Given the description of an element on the screen output the (x, y) to click on. 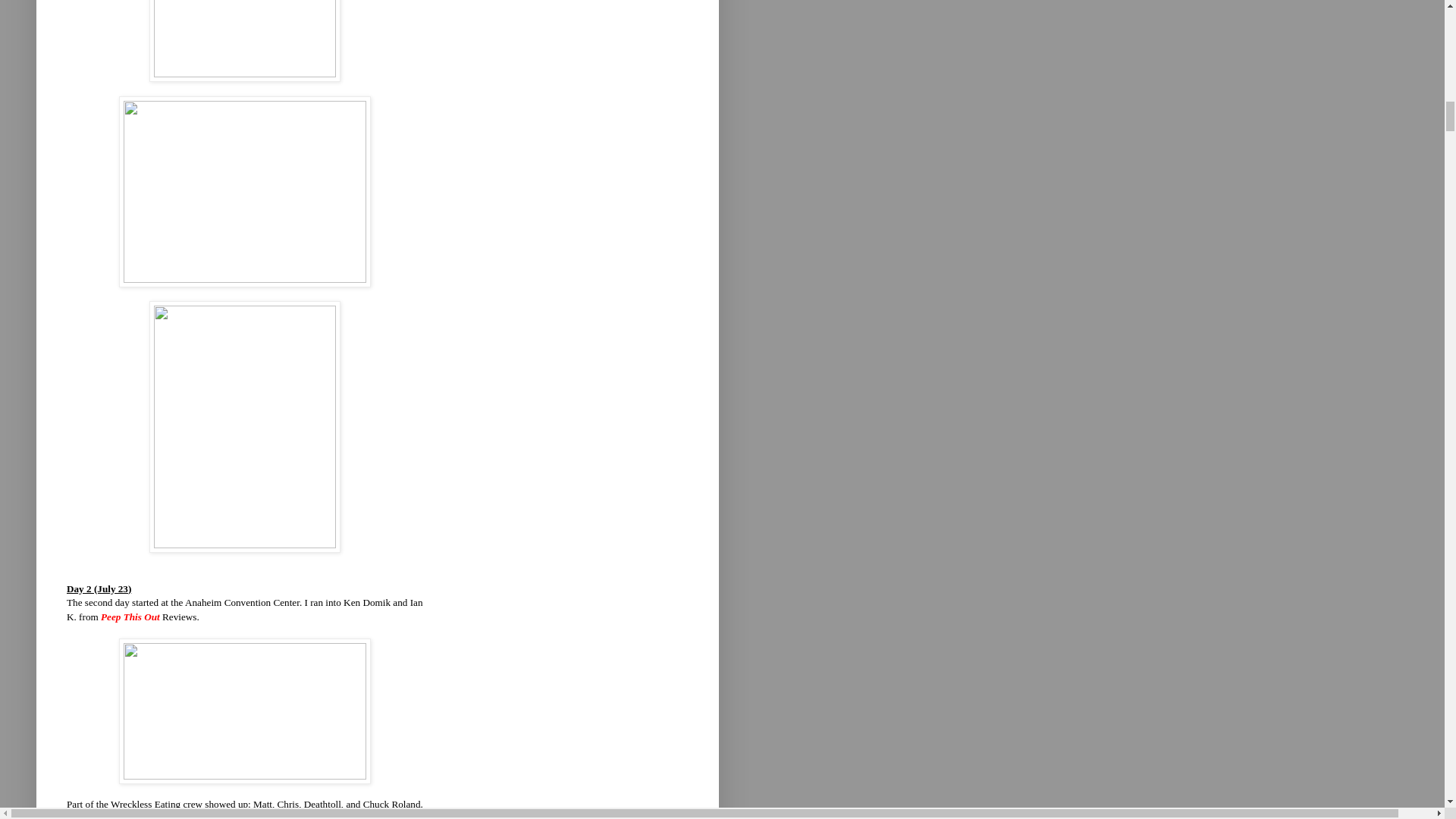
Peep This Out (130, 616)
